Given the description of an element on the screen output the (x, y) to click on. 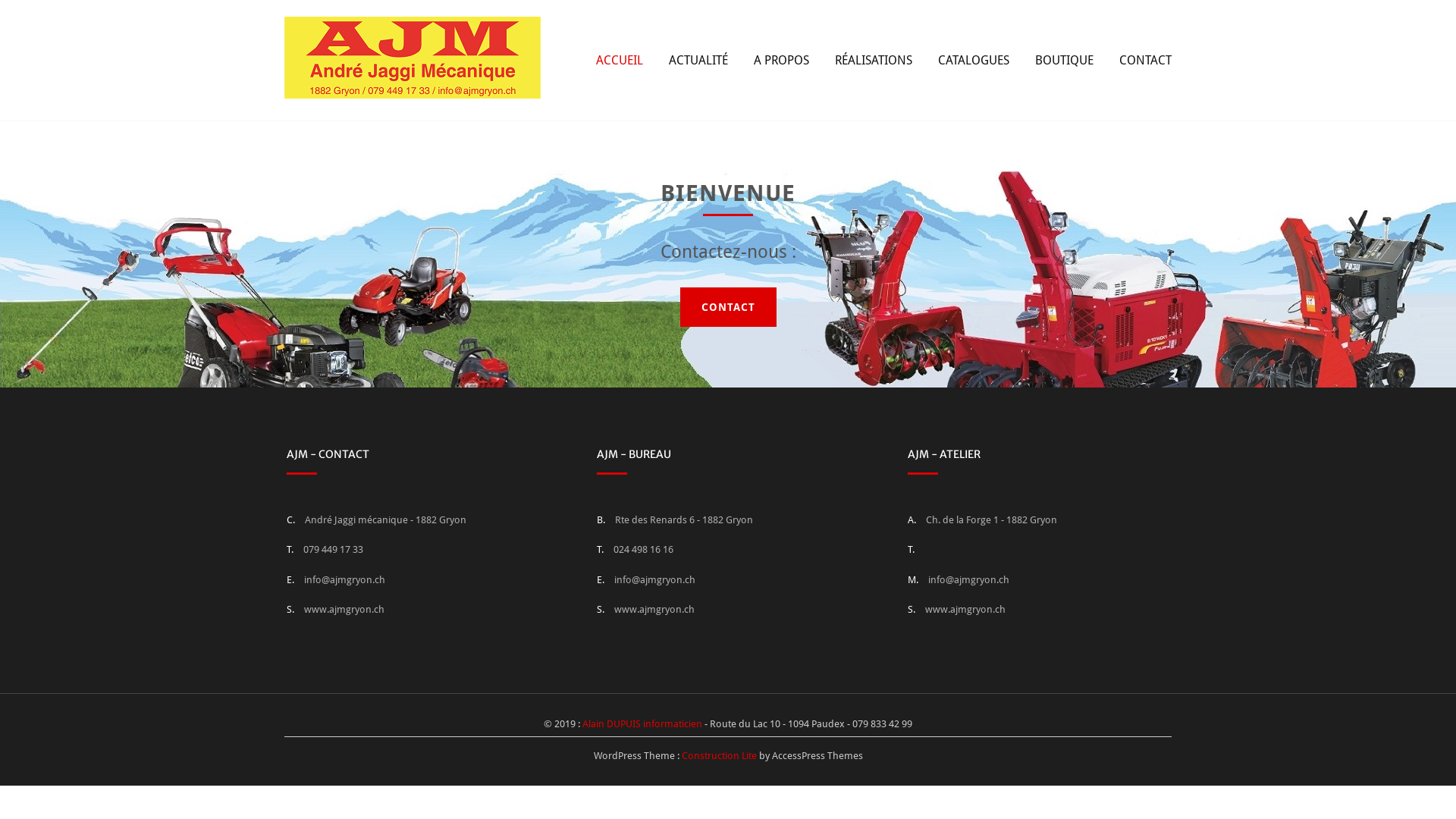
CATALOGUES Element type: text (973, 59)
Construction Lite Element type: text (718, 755)
Skip to content Element type: text (0, 0)
A PROPOS Element type: text (781, 59)
Alain DUPUIS informaticien Element type: text (642, 723)
ACCUEIL Element type: text (619, 59)
CONTACT Element type: text (1145, 59)
CONTACT Element type: text (727, 306)
BOUTIQUE Element type: text (1064, 59)
